Given the description of an element on the screen output the (x, y) to click on. 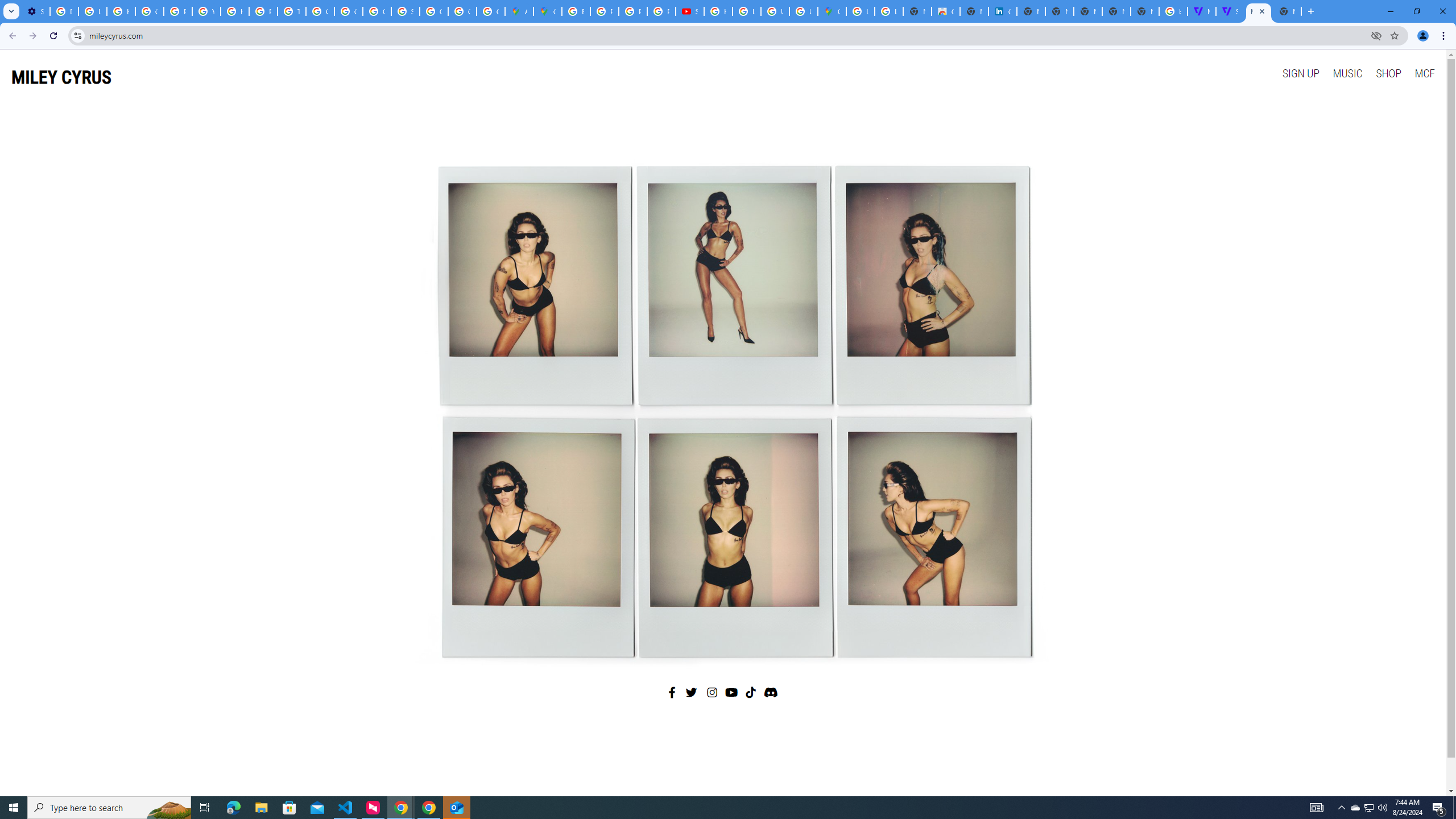
Facebook (671, 692)
MILEY CYRUS. (1258, 11)
SHOP (1387, 73)
Google Maps (547, 11)
How Chrome protects your passwords - Google Chrome Help (718, 11)
MILEY CYRUS (61, 77)
Google Maps (831, 11)
MUSIC (1347, 73)
